Given the description of an element on the screen output the (x, y) to click on. 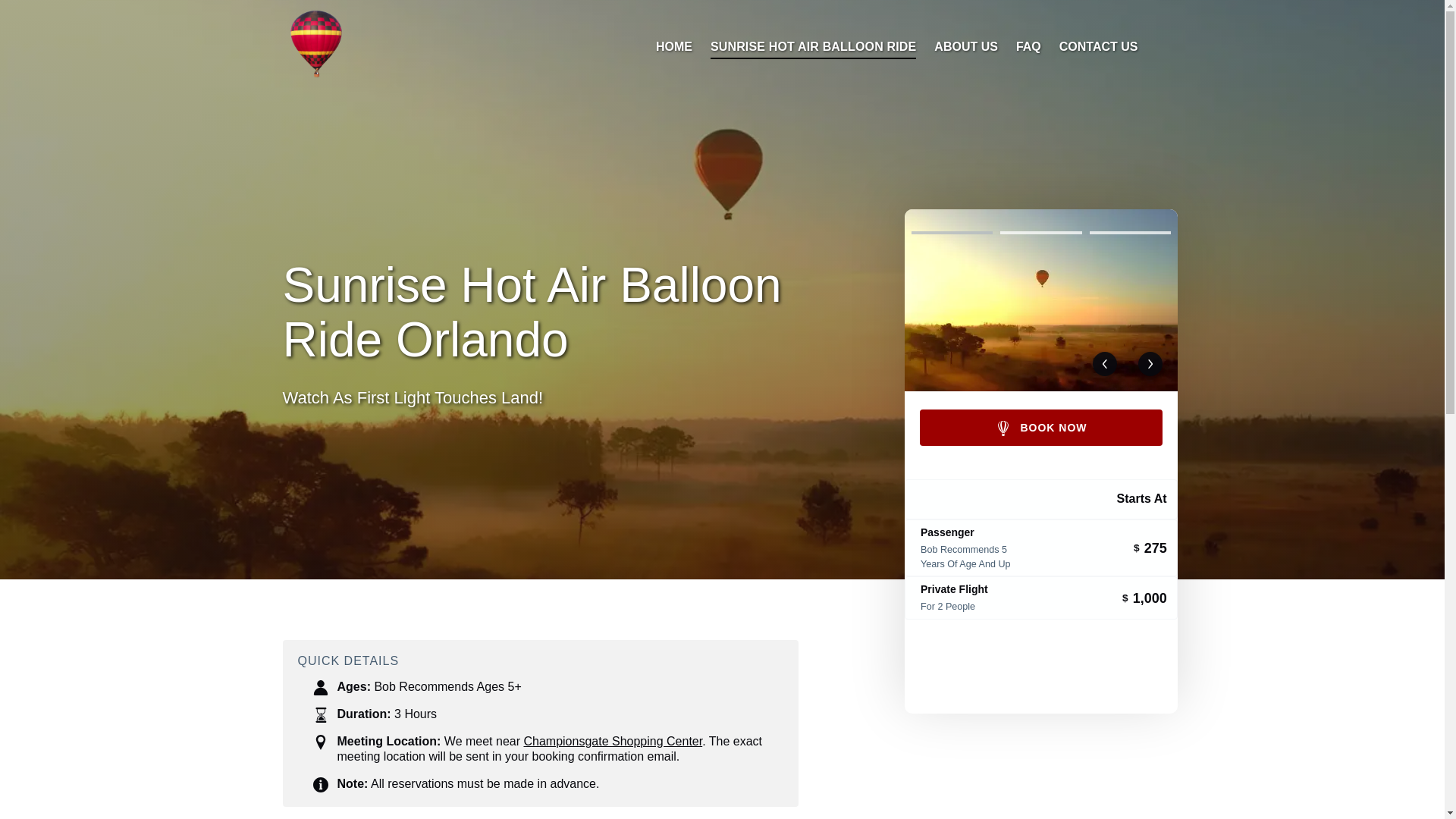
Skip to footer (42, 16)
Previous (1104, 363)
BOOK NOW (1039, 427)
Map Marker (320, 742)
Hour Glass (320, 714)
Skip to primary navigation (77, 16)
FAQ (1028, 46)
User (320, 687)
Championsgate Shopping Center (611, 740)
CONTACT US (1098, 46)
